Given the description of an element on the screen output the (x, y) to click on. 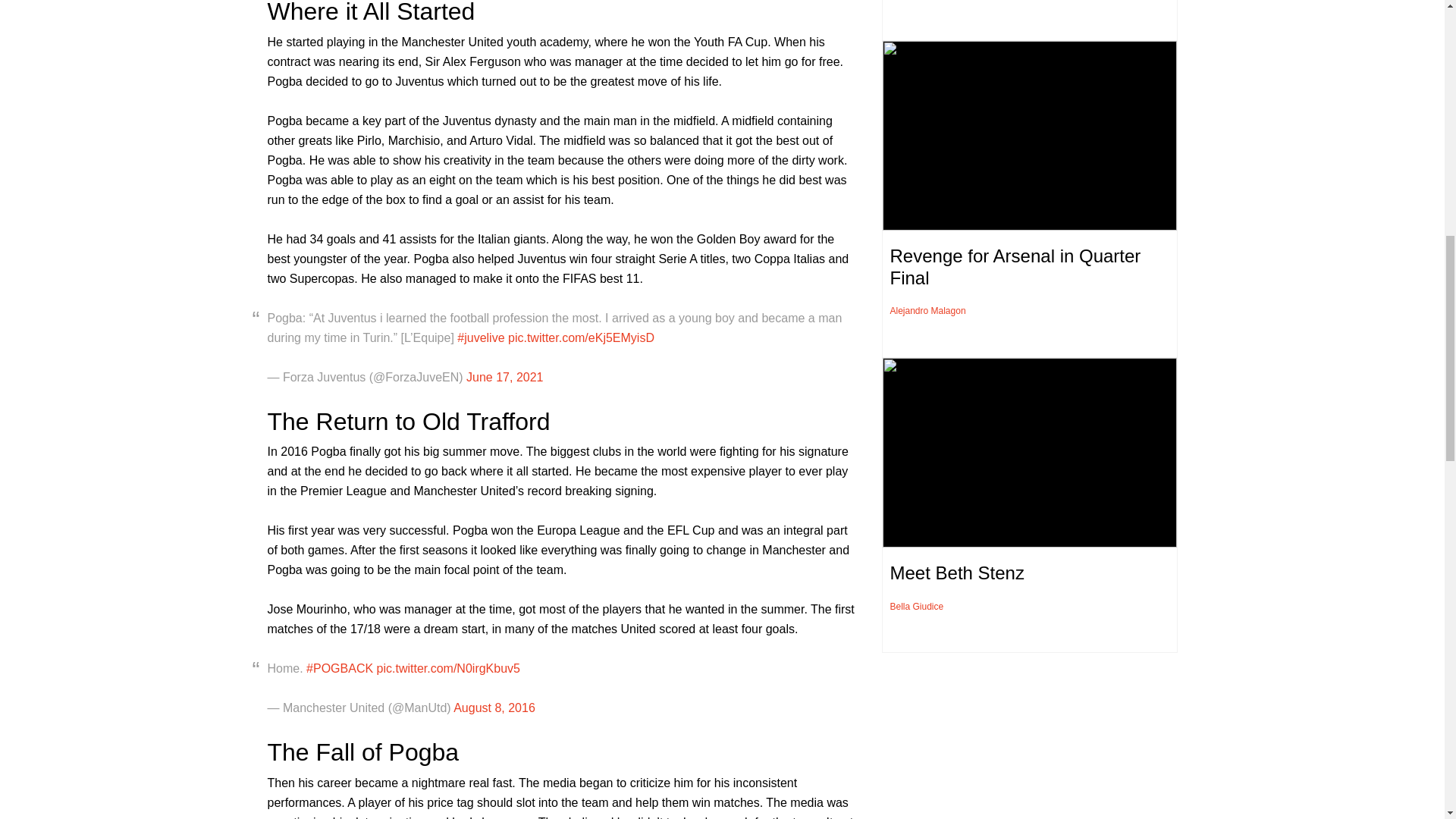
June 17, 2021 (504, 377)
August 8, 2016 (493, 707)
